Given the description of an element on the screen output the (x, y) to click on. 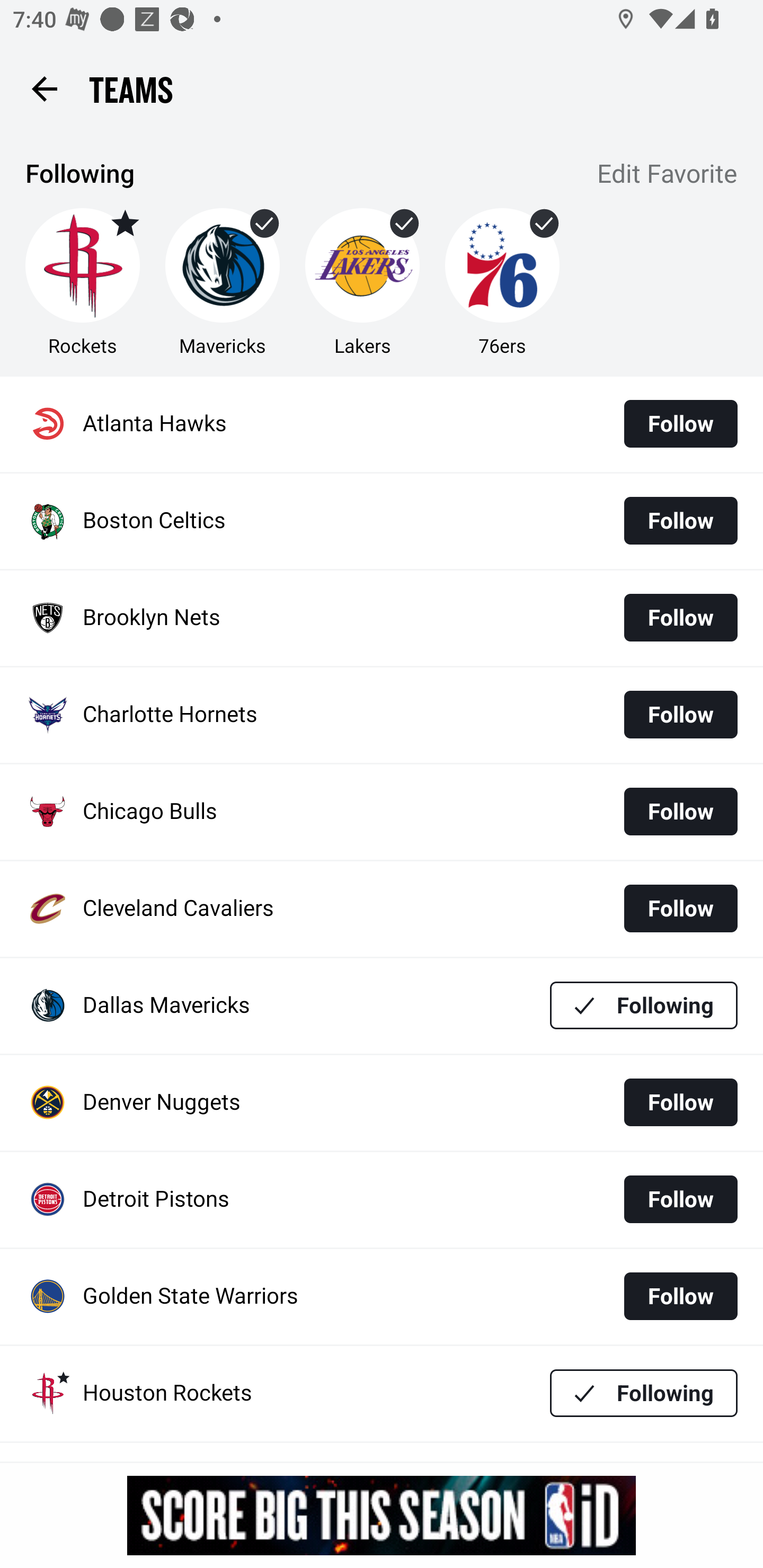
Back button (44, 88)
Edit Favorite (667, 175)
Atlanta Hawks Follow (381, 423)
Follow (680, 423)
Boston Celtics Follow (381, 521)
Follow (680, 520)
Brooklyn Nets Follow (381, 618)
Follow (680, 617)
Charlotte Hornets Follow (381, 714)
Follow (680, 713)
Chicago Bulls Follow (381, 812)
Follow (680, 811)
Cleveland Cavaliers Follow (381, 908)
Follow (680, 908)
Dallas Mavericks Following (381, 1005)
Following (643, 1005)
Denver Nuggets Follow (381, 1102)
Follow (680, 1101)
Detroit Pistons Follow (381, 1200)
Follow (680, 1199)
Golden State Warriors Follow (381, 1296)
Follow (680, 1295)
Houston Rockets Following (381, 1392)
Following (643, 1392)
g5nqqygr7owph (381, 1515)
